Given the description of an element on the screen output the (x, y) to click on. 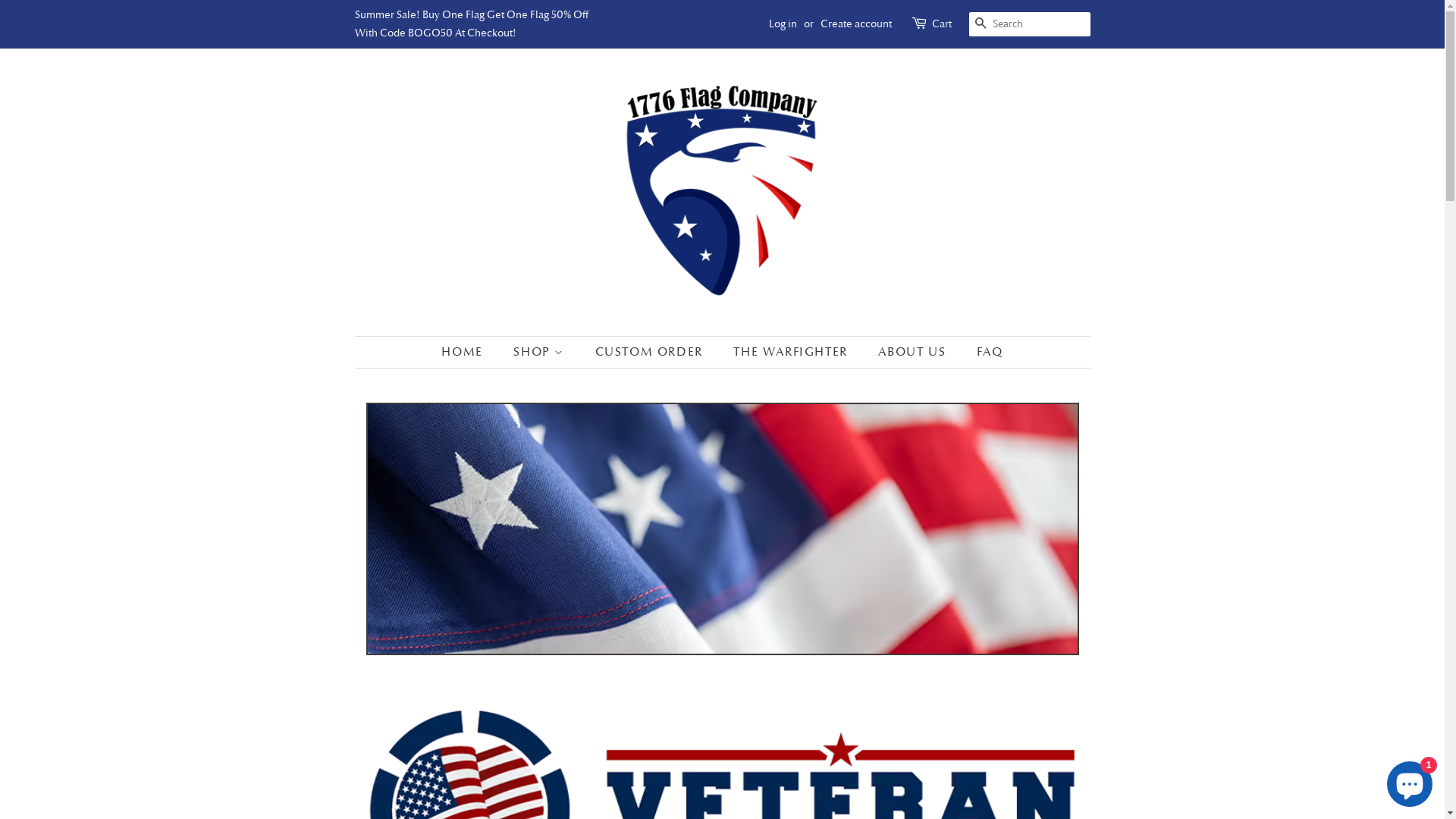
Log in Element type: text (782, 23)
HOME Element type: text (469, 351)
ABOUT US Element type: text (913, 351)
Create account Element type: text (855, 23)
Cart Element type: text (940, 24)
Shopify online store chat Element type: hover (1409, 780)
SHOP Element type: text (540, 351)
THE WARFIGHTER Element type: text (791, 351)
FAQ Element type: text (984, 351)
SEARCH Element type: text (981, 24)
CUSTOM ORDER Element type: text (650, 351)
